Given the description of an element on the screen output the (x, y) to click on. 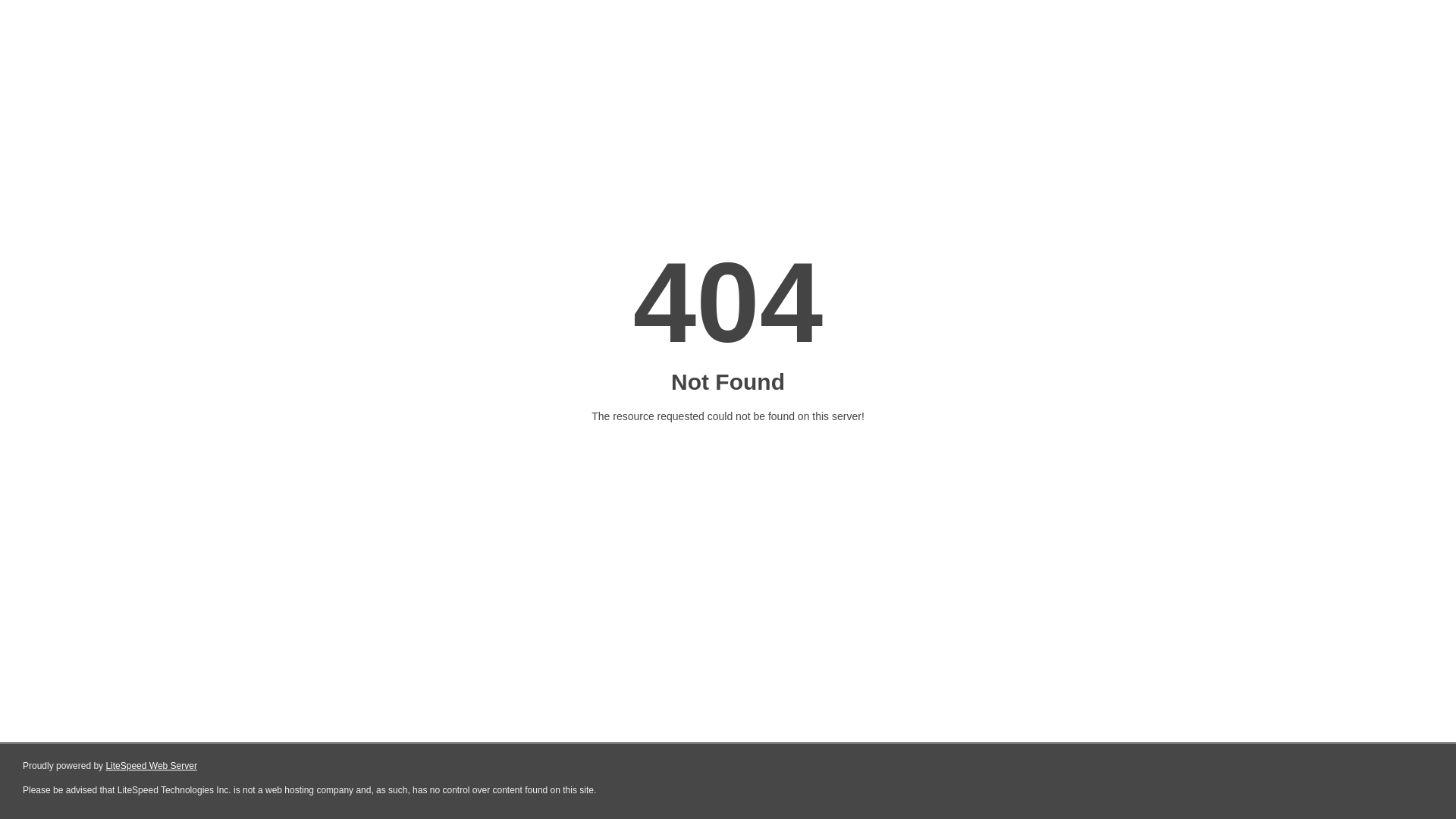
LiteSpeed Web Server Element type: text (151, 765)
